Given the description of an element on the screen output the (x, y) to click on. 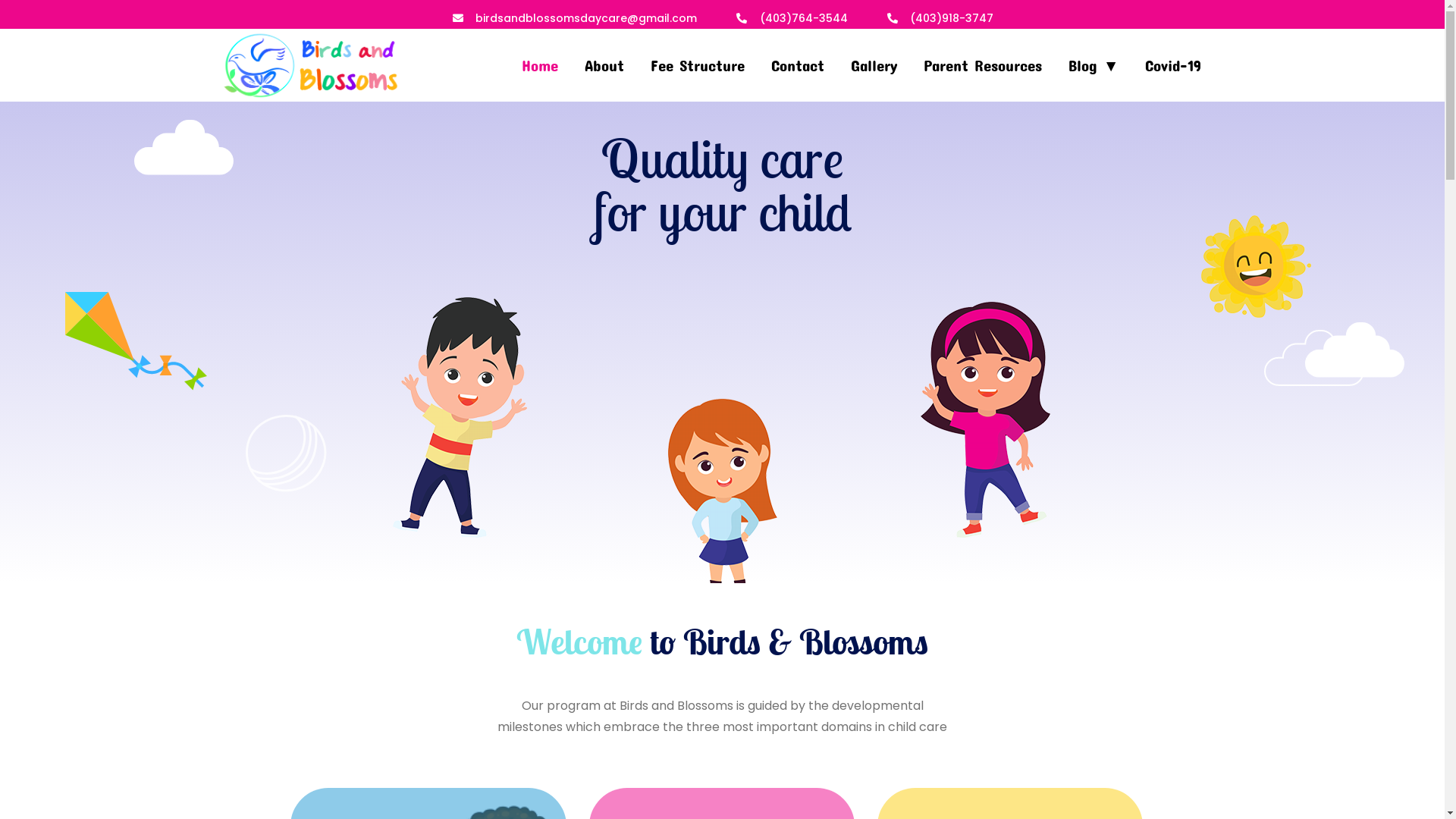
About Element type: text (604, 61)
Home Element type: text (539, 61)
Fee Structure Element type: text (697, 61)
Gallery Element type: text (873, 61)
Parent Resources Element type: text (982, 61)
Contact Element type: text (797, 61)
(403)764-3544 Element type: text (790, 17)
birdsandblossomsdaycare@gmail.com Element type: text (574, 17)
Covid-19 Element type: text (1173, 61)
(403)918-3747 Element type: text (939, 17)
